Given the description of an element on the screen output the (x, y) to click on. 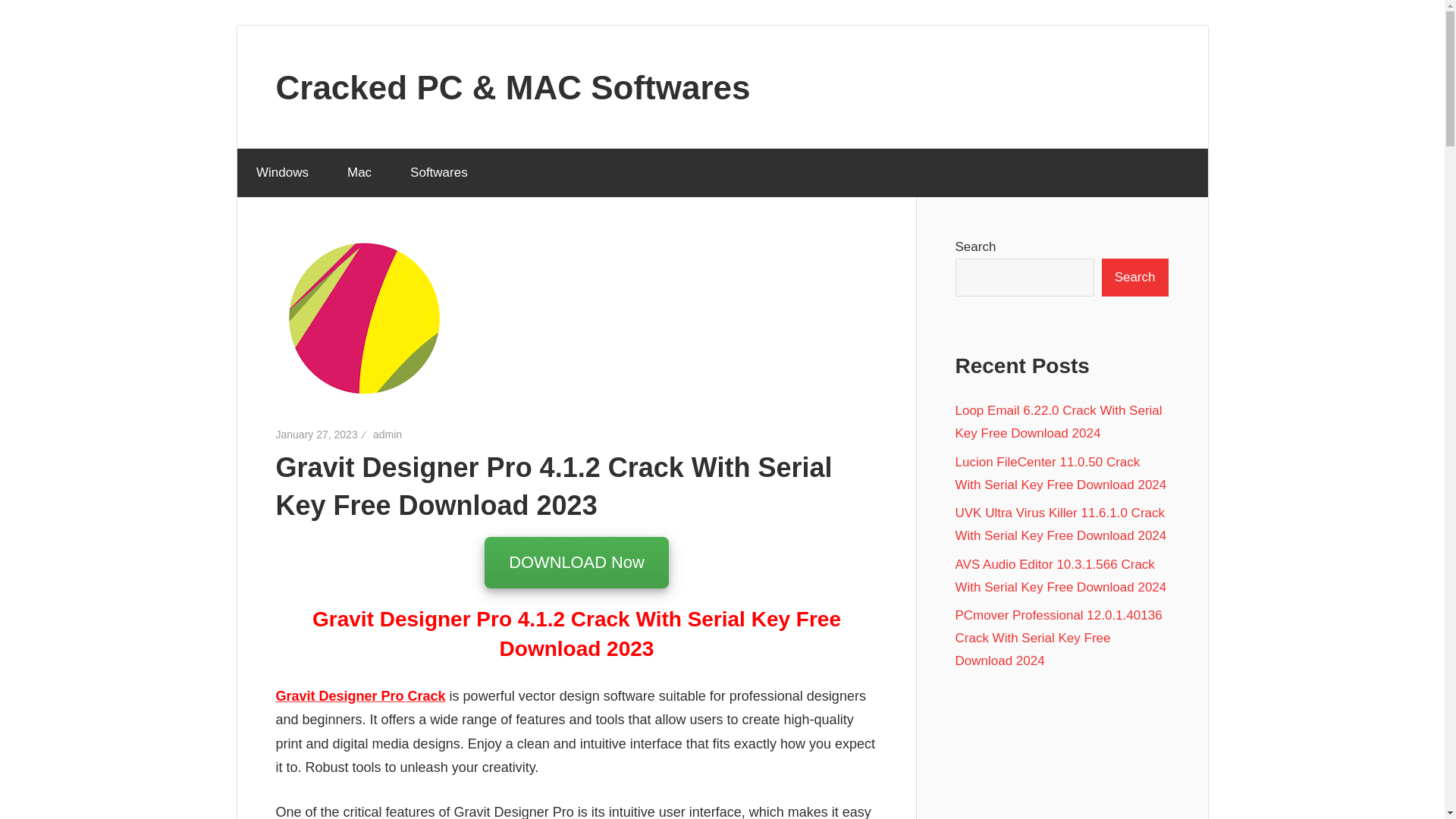
admin (386, 434)
DOWNLOAD Now (576, 562)
8:14 am (317, 434)
Softwares (439, 172)
Windows (281, 172)
Loop Email 6.22.0 Crack With Serial Key Free Download 2024 (1058, 421)
View all posts by admin (386, 434)
Mac (358, 172)
